Given the description of an element on the screen output the (x, y) to click on. 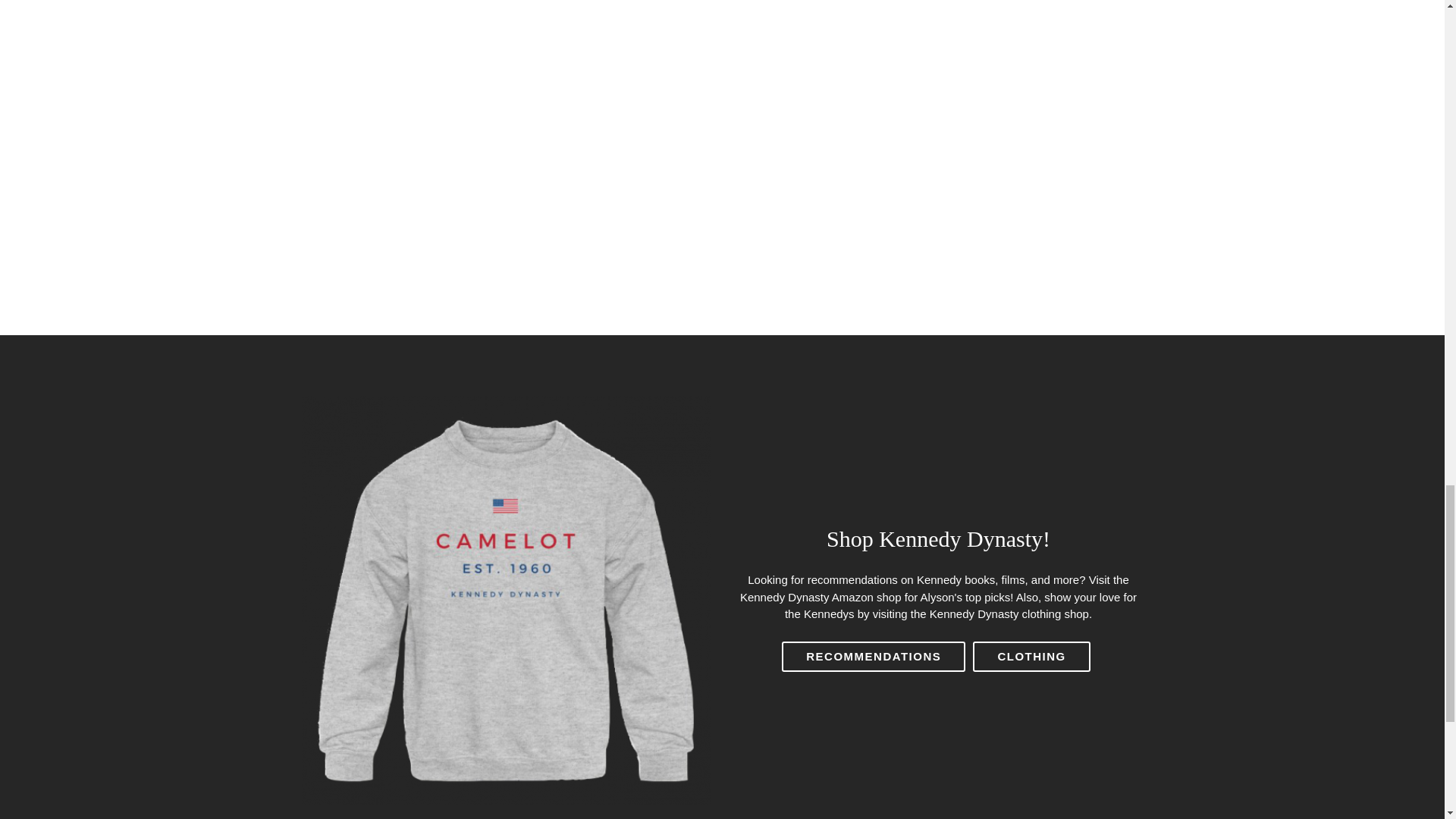
RECOMMENDATIONS (873, 656)
CLOTHING (1030, 656)
